Given the description of an element on the screen output the (x, y) to click on. 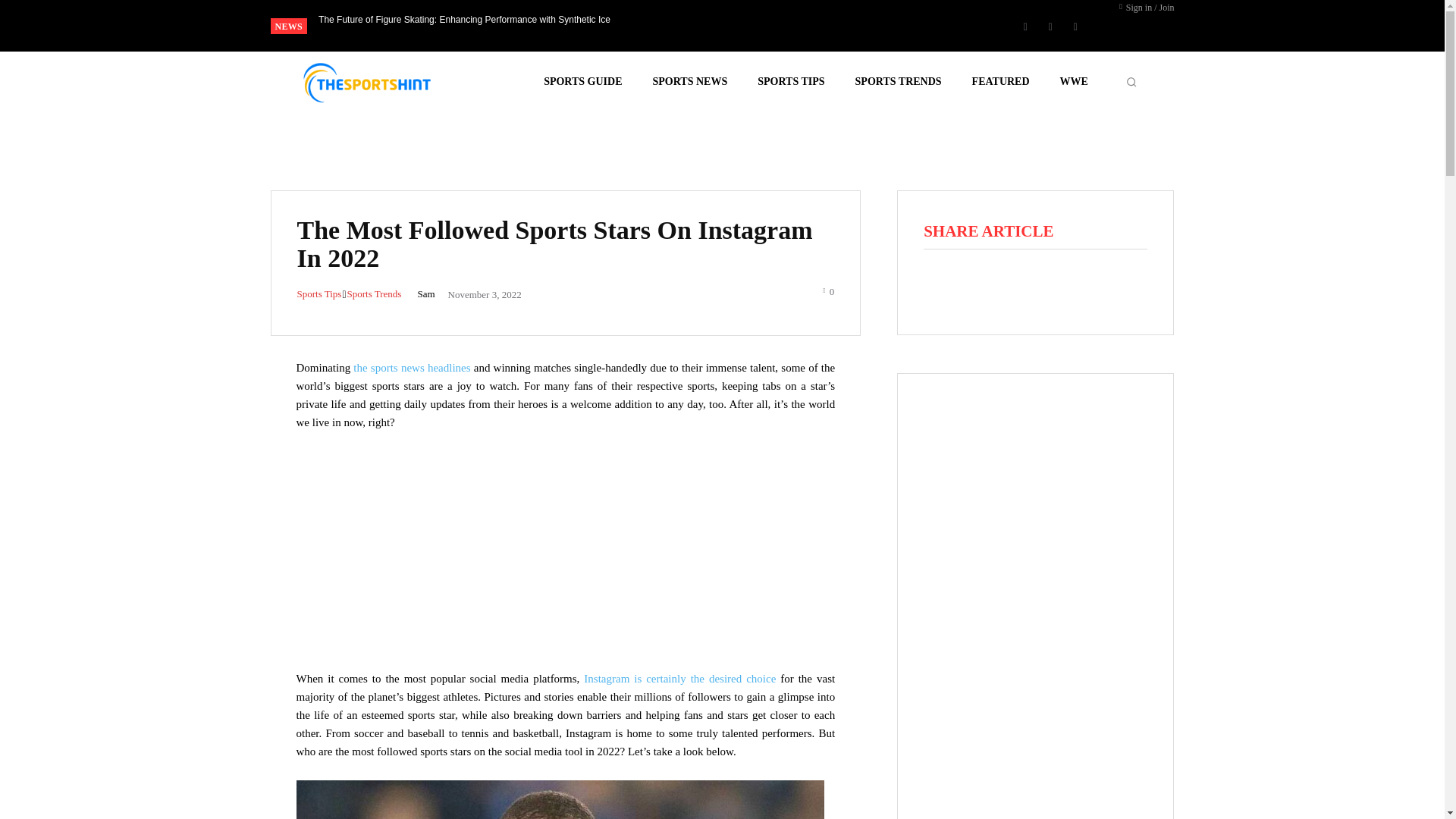
SPORTS NEWS (690, 81)
FEATURED (1000, 81)
Facebook (1024, 25)
Sports Trends (374, 293)
SPORTS GUIDE (582, 81)
Instagram (1050, 25)
Twitter (1075, 25)
SPORTS TRENDS (899, 81)
